Given the description of an element on the screen output the (x, y) to click on. 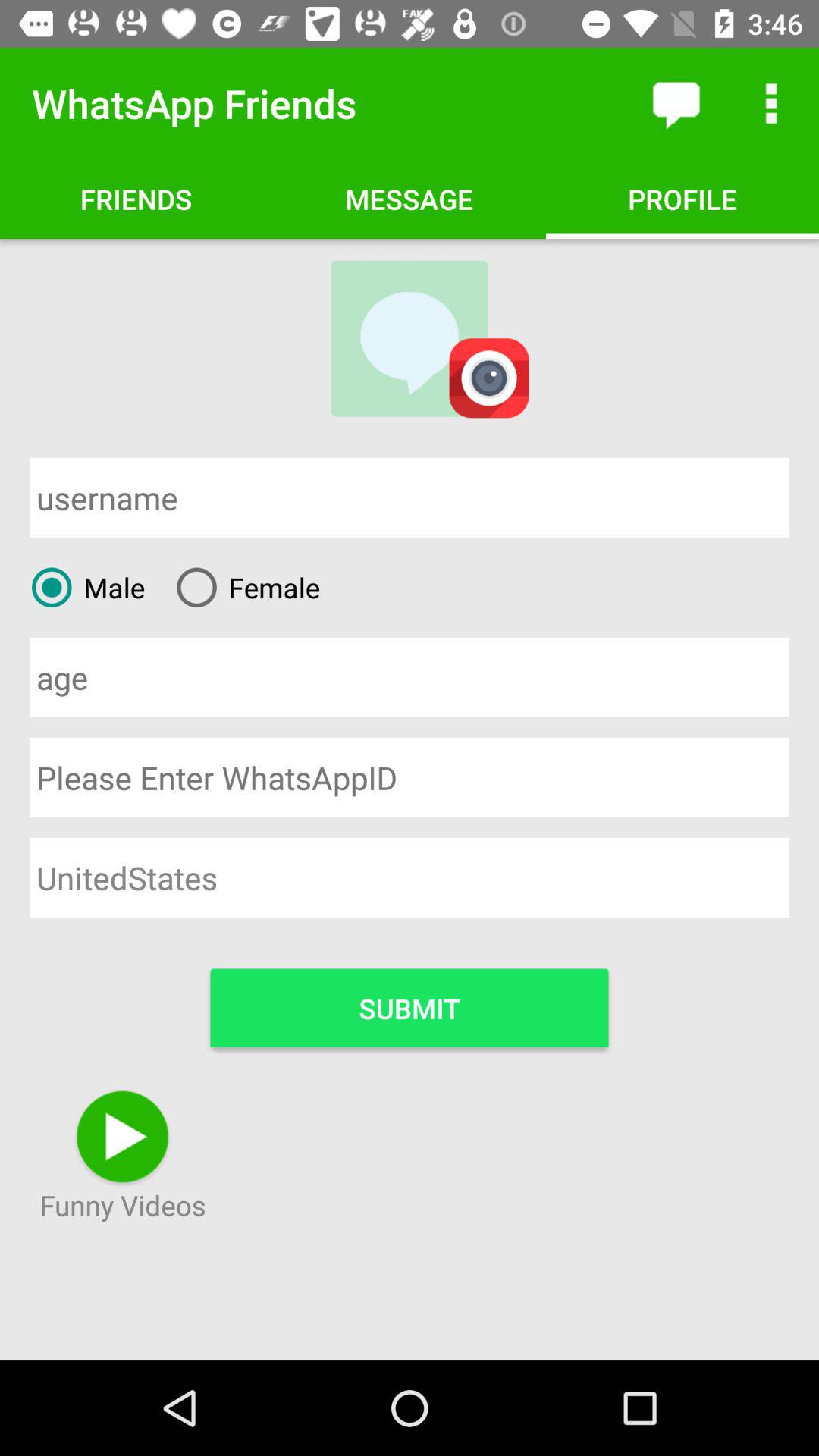
press submit (409, 1007)
